Given the description of an element on the screen output the (x, y) to click on. 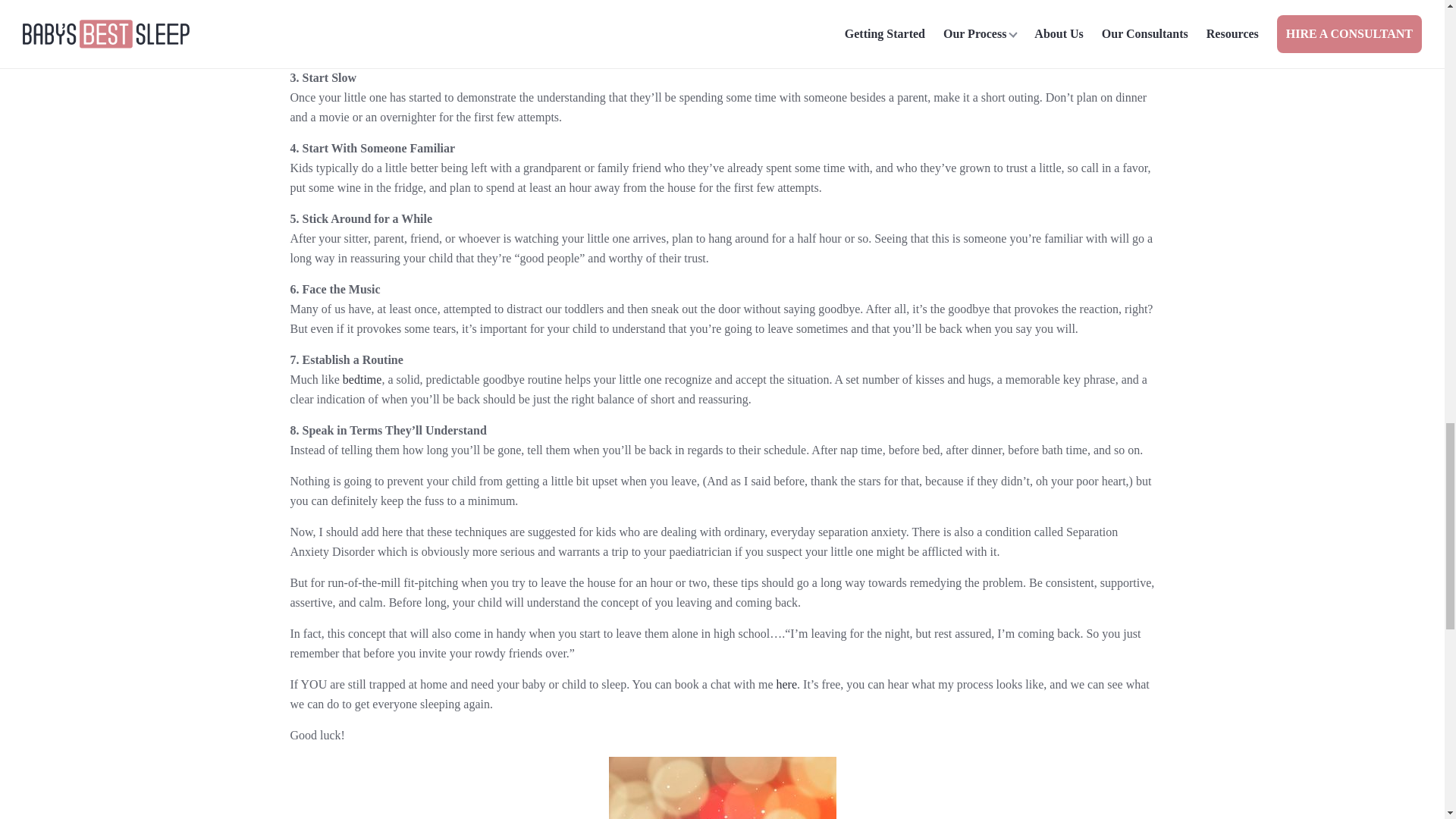
here (786, 684)
bedtime (361, 379)
